Given the description of an element on the screen output the (x, y) to click on. 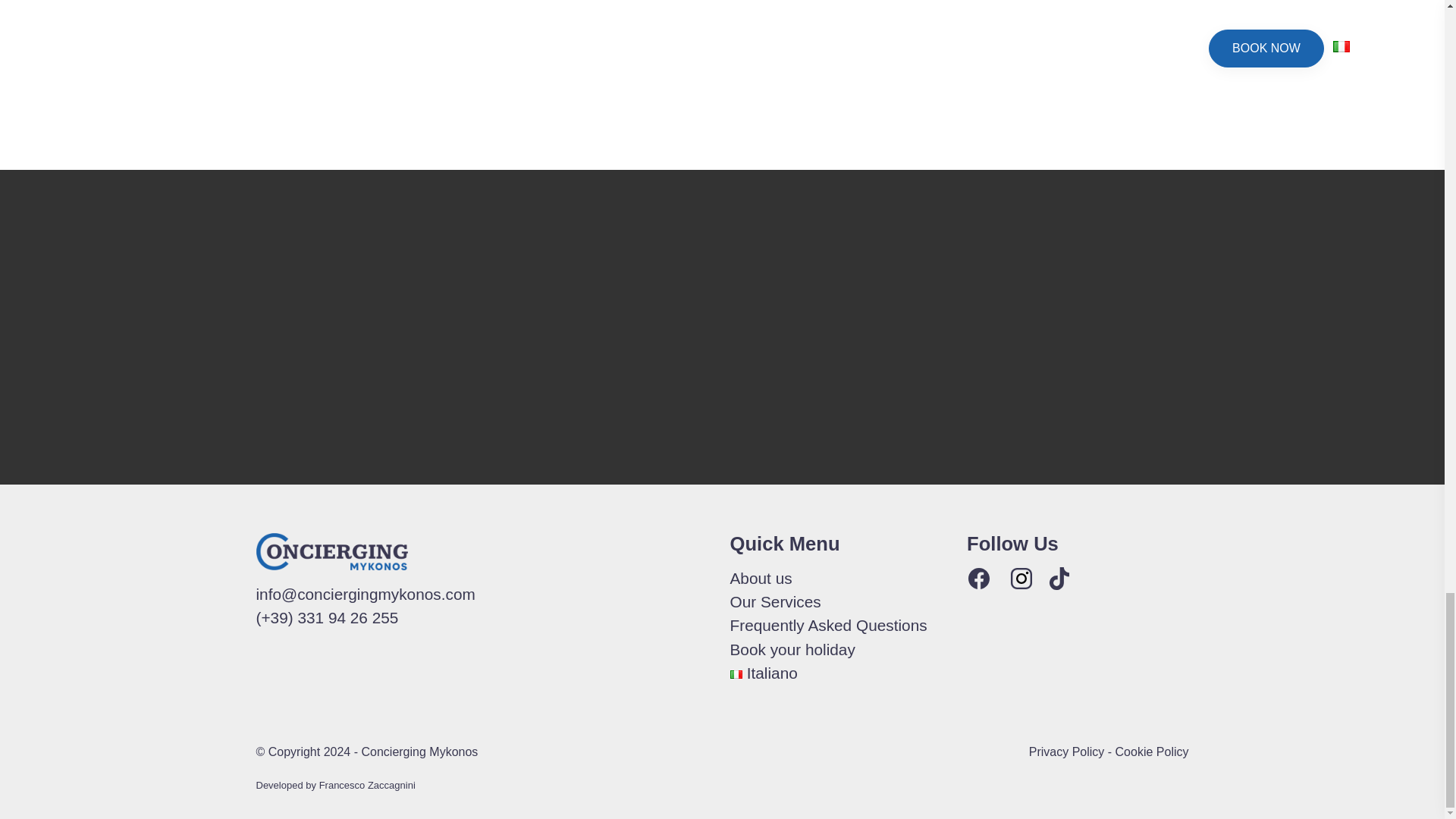
Privacy Policy (1067, 751)
Book your holiday (791, 649)
About us (760, 578)
Our Services (775, 601)
Francesco Zaccagnini (366, 785)
Frequently Asked Questions (827, 624)
Italiano (762, 672)
Cookie Policy (1152, 751)
Cookie Policy (1152, 751)
Privacy Policy (1067, 751)
